Given the description of an element on the screen output the (x, y) to click on. 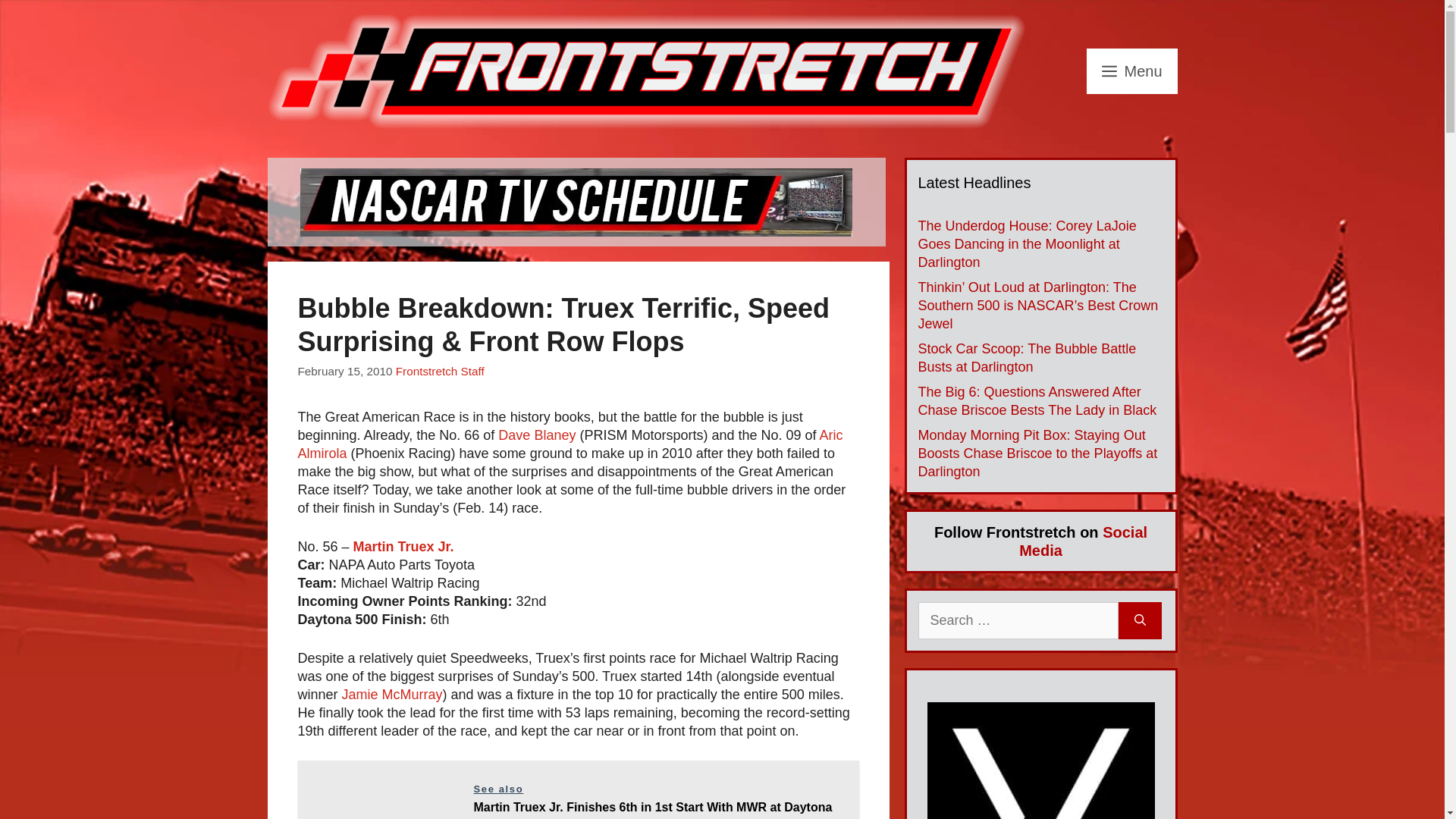
Dave Blaney (536, 435)
Menu (1131, 71)
Jamie McMurray (392, 694)
Aric Almirola (570, 444)
Search for: (1017, 620)
Martin Truex Jr. (403, 546)
Frontstretch Staff (440, 370)
